Given the description of an element on the screen output the (x, y) to click on. 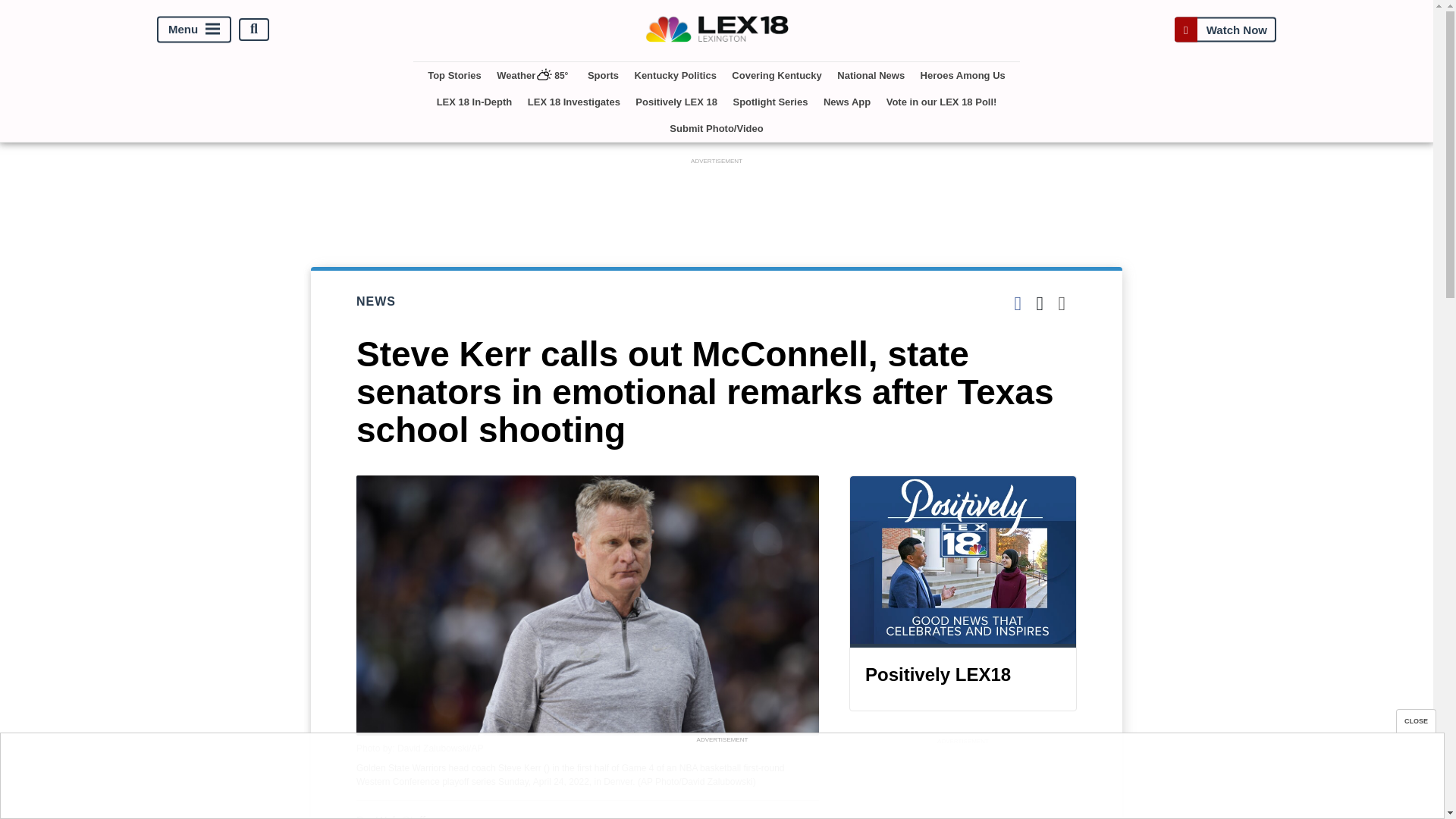
3rd party ad content (721, 780)
Watch Now (1224, 29)
3rd party ad content (962, 783)
Menu (194, 28)
3rd party ad content (716, 202)
